Given the description of an element on the screen output the (x, y) to click on. 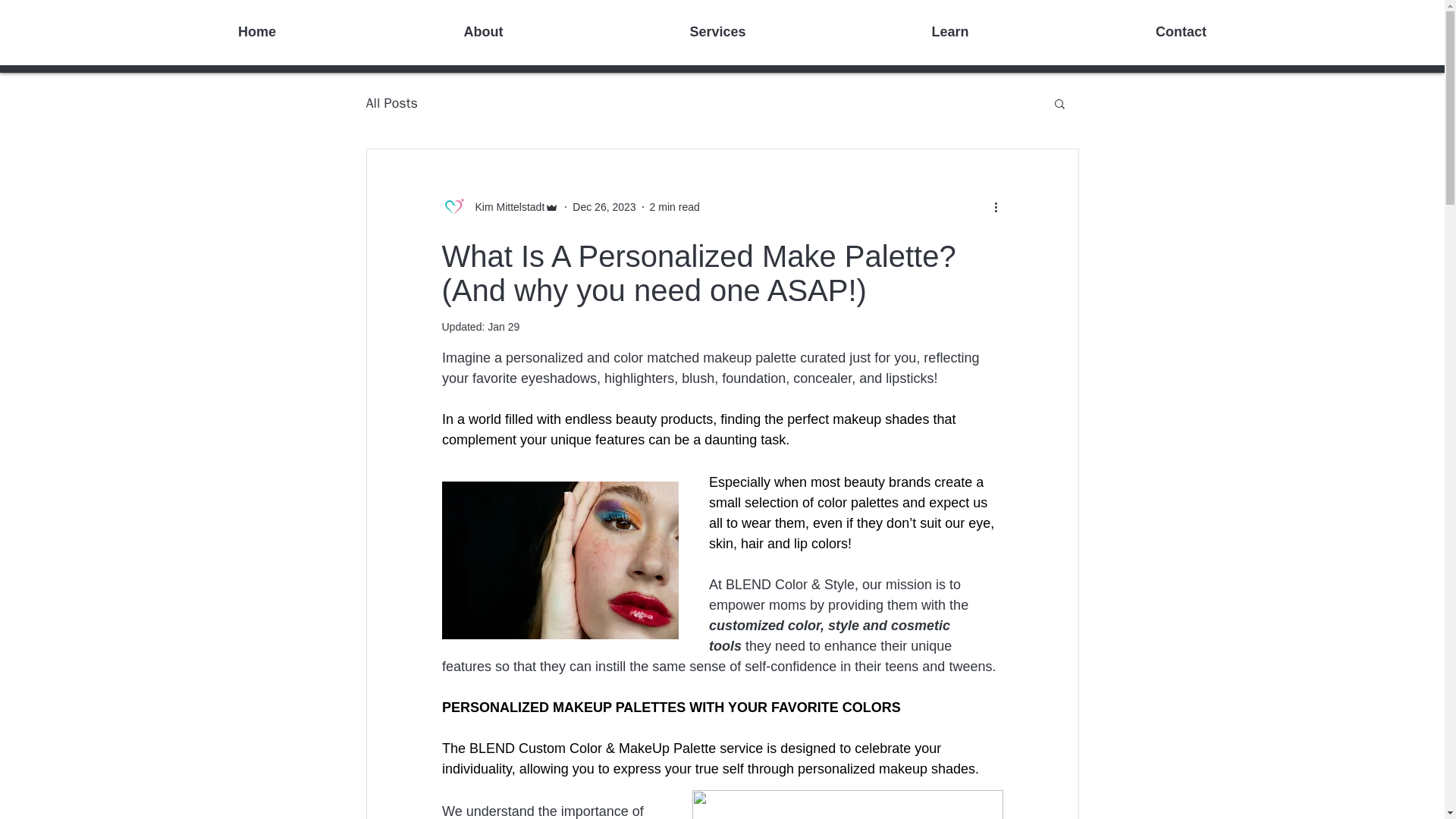
Kim Mittelstadt (500, 206)
Kim Mittelstadt (504, 206)
2 min read (674, 205)
Contact (1180, 31)
About (482, 31)
All Posts (390, 103)
Jan 29 (503, 326)
Learn (949, 31)
Dec 26, 2023 (603, 205)
Home (256, 31)
